Given the description of an element on the screen output the (x, y) to click on. 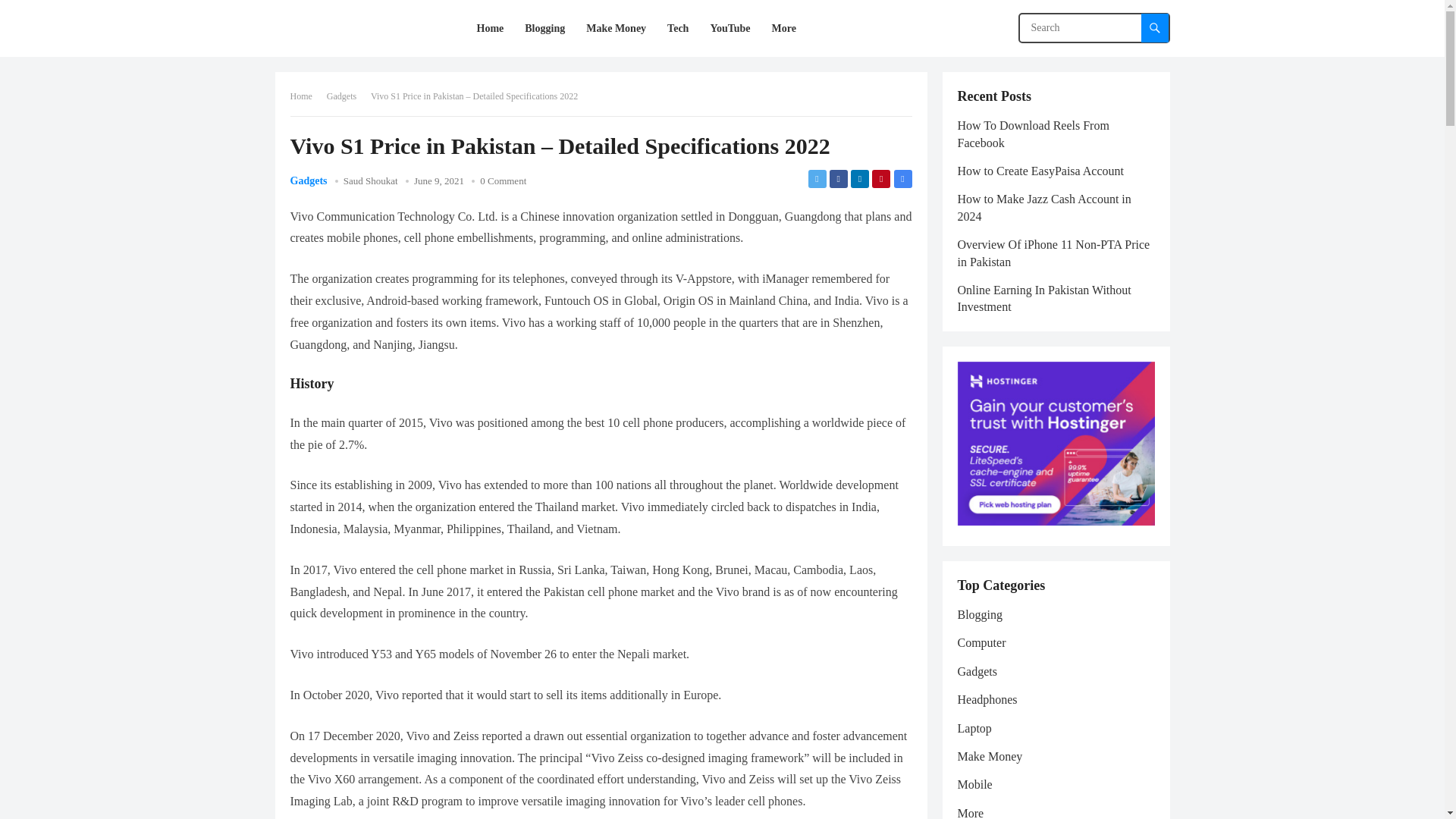
Gadgets (346, 95)
Gadgets (307, 180)
Make Money (615, 28)
Saud Shoukat (370, 180)
Posts by Saud Shoukat (370, 180)
Blogging (544, 28)
Home (489, 28)
YouTube (729, 28)
Home (305, 95)
0 Comment (502, 180)
More (783, 28)
Tech (677, 28)
